Given the description of an element on the screen output the (x, y) to click on. 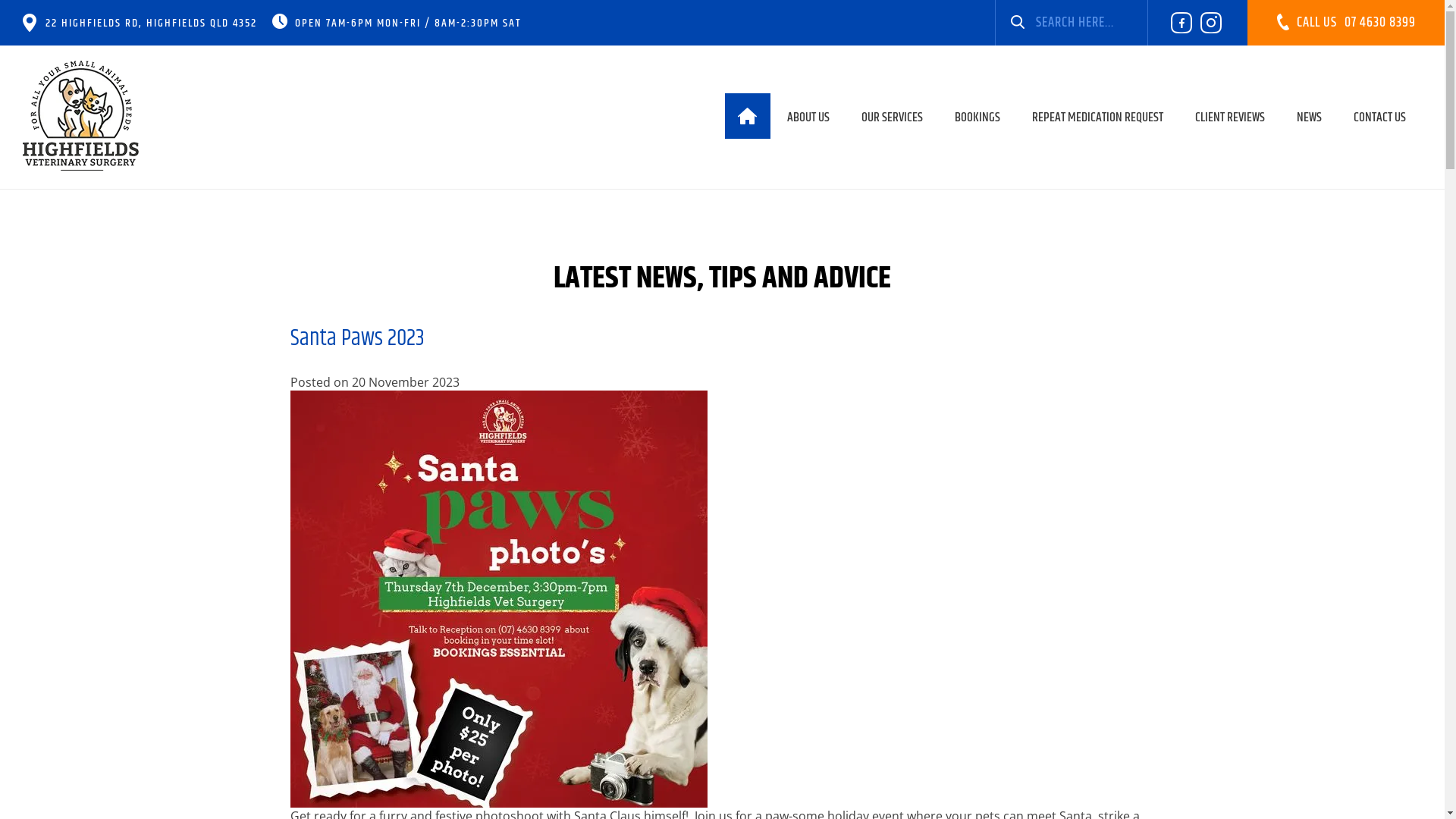
CONTACT US Element type: text (1379, 116)
NEWS Element type: text (1308, 116)
Highfields Veterinary Surgery Element type: hover (80, 115)
CALL US
07 4630 8399 Element type: text (1345, 36)
instagram Element type: text (1210, 22)
facebook Element type: text (1181, 22)
Go Element type: hover (1017, 22)
Santa Paws 2023 Element type: text (356, 338)
HOME Element type: text (747, 115)
REPEAT MEDICATION REQUEST Element type: text (1097, 116)
BOOKINGS Element type: text (977, 116)
CLIENT REVIEWS Element type: text (1229, 116)
ABOUT US Element type: text (807, 116)
Santa Paws 2023 Element type: hover (497, 598)
OUR SERVICES Element type: text (892, 116)
